Given the description of an element on the screen output the (x, y) to click on. 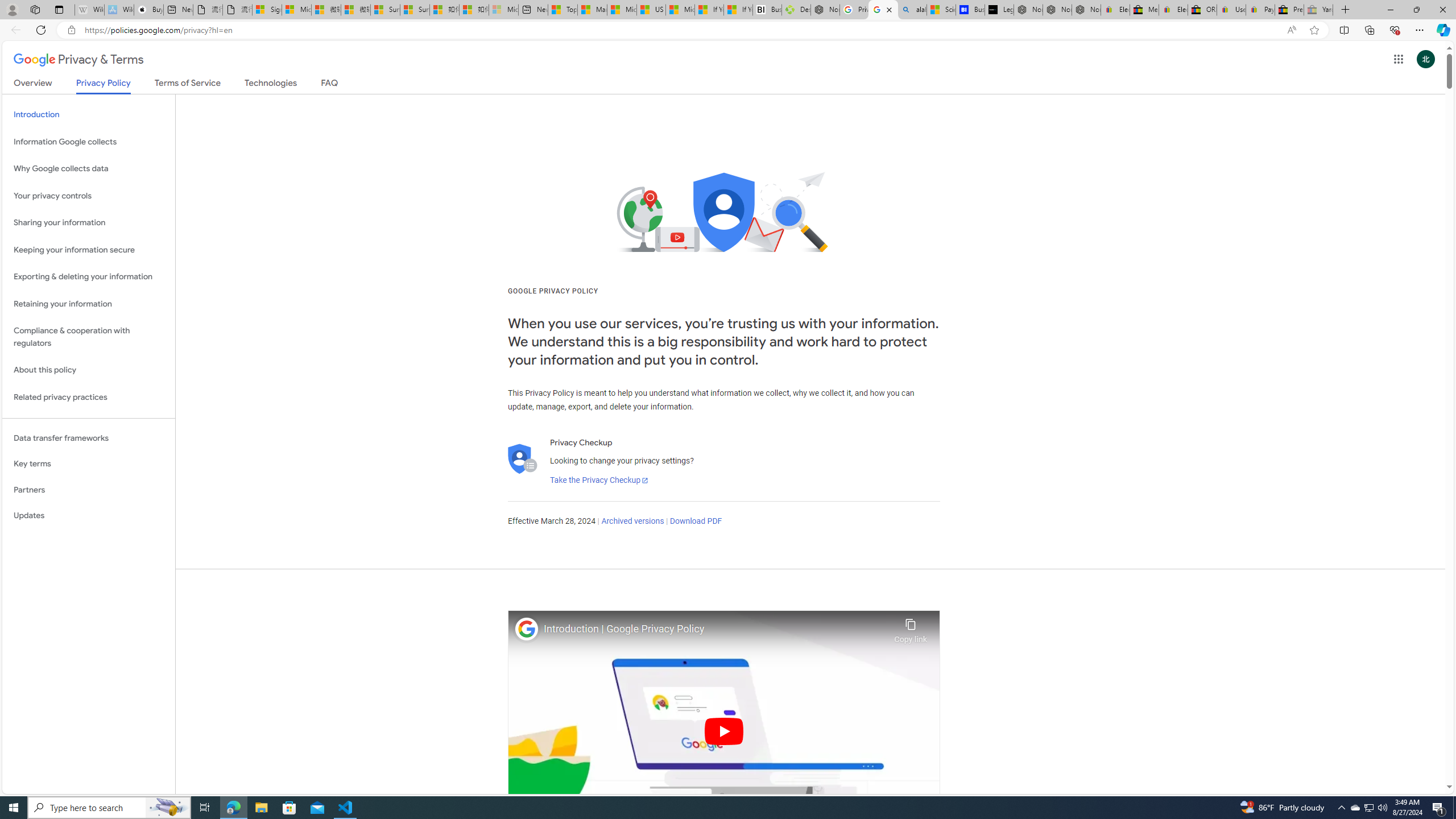
Information Google collects (88, 141)
Why Google collects data (88, 168)
Partners (88, 489)
User Privacy Notice | eBay (1230, 9)
US Heat Deaths Soared To Record High Last Year (651, 9)
Key terms (88, 464)
Retaining your information (88, 303)
Technologies (270, 84)
Related privacy practices (88, 397)
Introduction | Google Privacy Policy (716, 629)
